Given the description of an element on the screen output the (x, y) to click on. 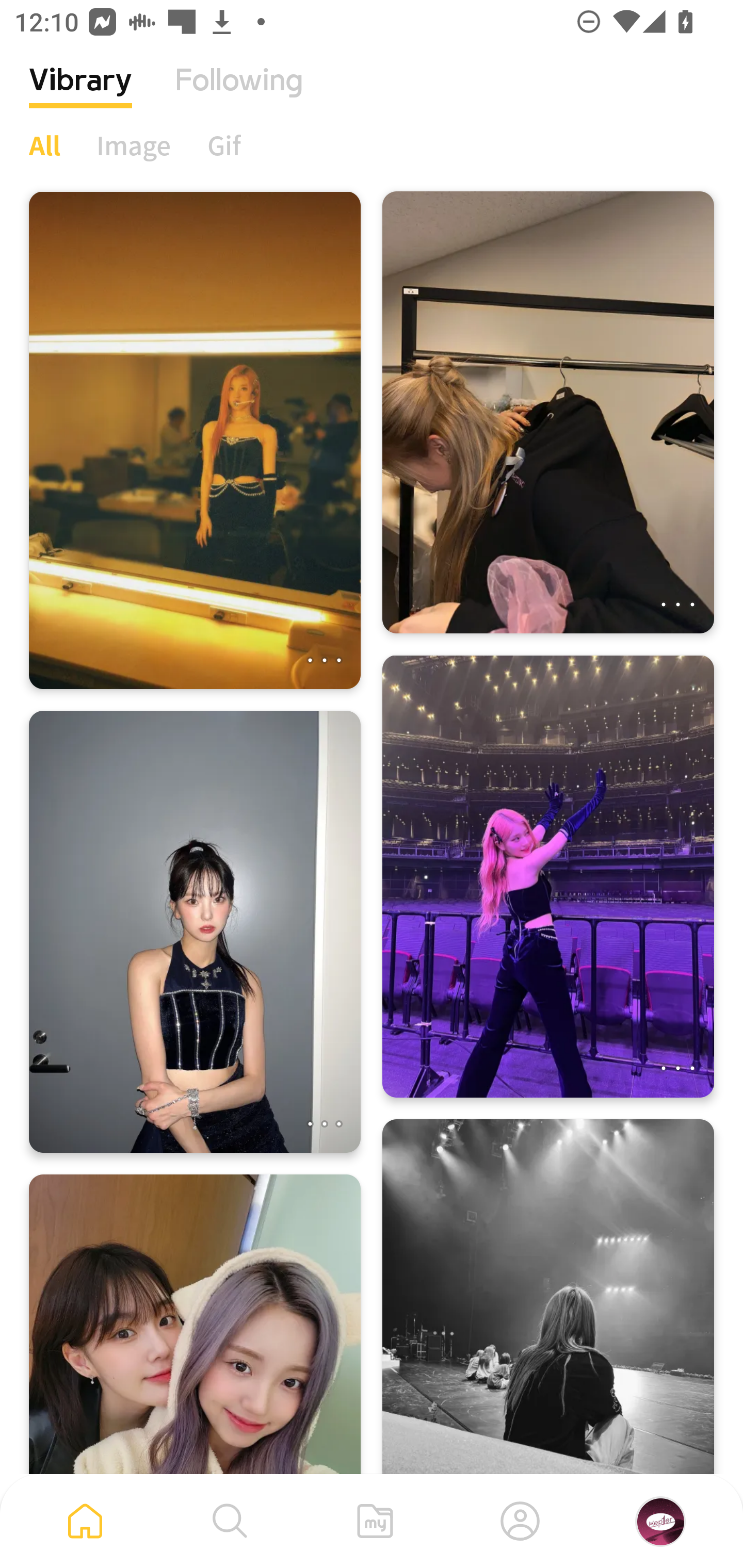
Vibrary (80, 95)
Following (239, 95)
All (44, 145)
Image (133, 145)
Gif (223, 145)
